Given the description of an element on the screen output the (x, y) to click on. 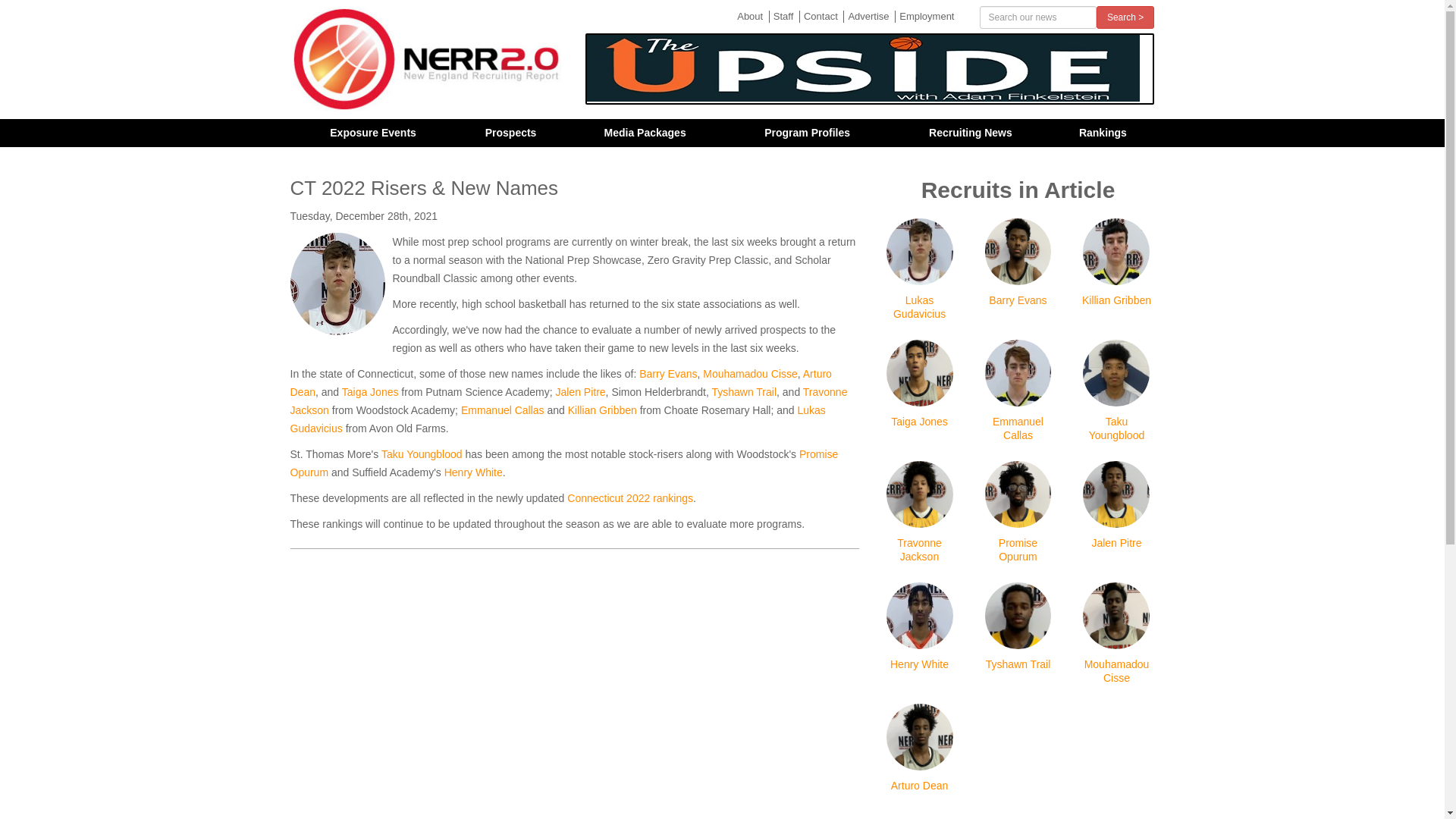
Employment (925, 16)
Advertise (867, 16)
New England Recruiting Report (425, 59)
Program Profiles (807, 132)
Exposure Events (372, 132)
Staff (783, 16)
Prospects (510, 132)
Rankings (1102, 132)
About (749, 16)
Media Packages (644, 132)
Recruiting News (970, 132)
Contact (820, 16)
